Given the description of an element on the screen output the (x, y) to click on. 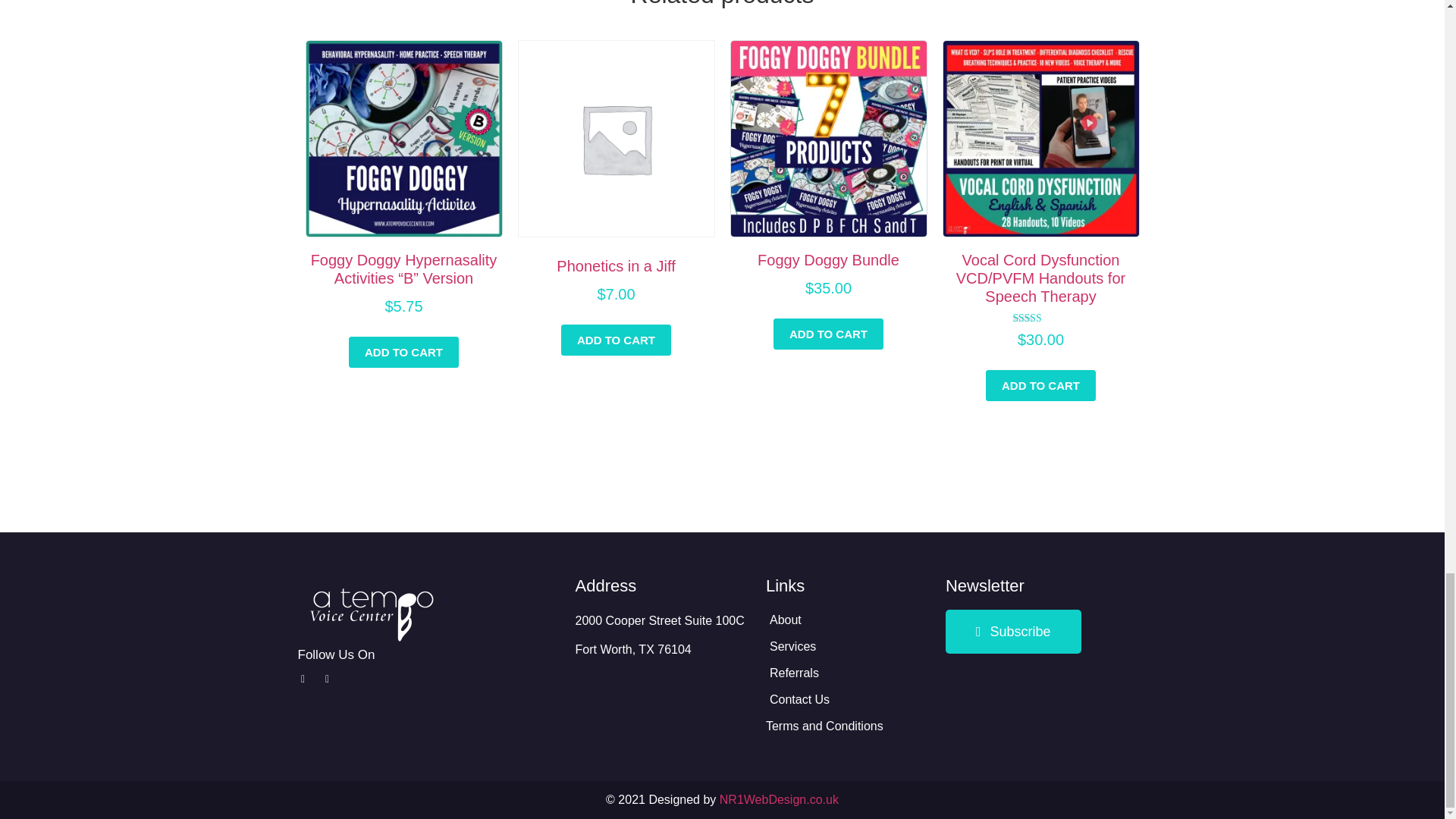
whiteatempologo (372, 613)
